Given the description of an element on the screen output the (x, y) to click on. 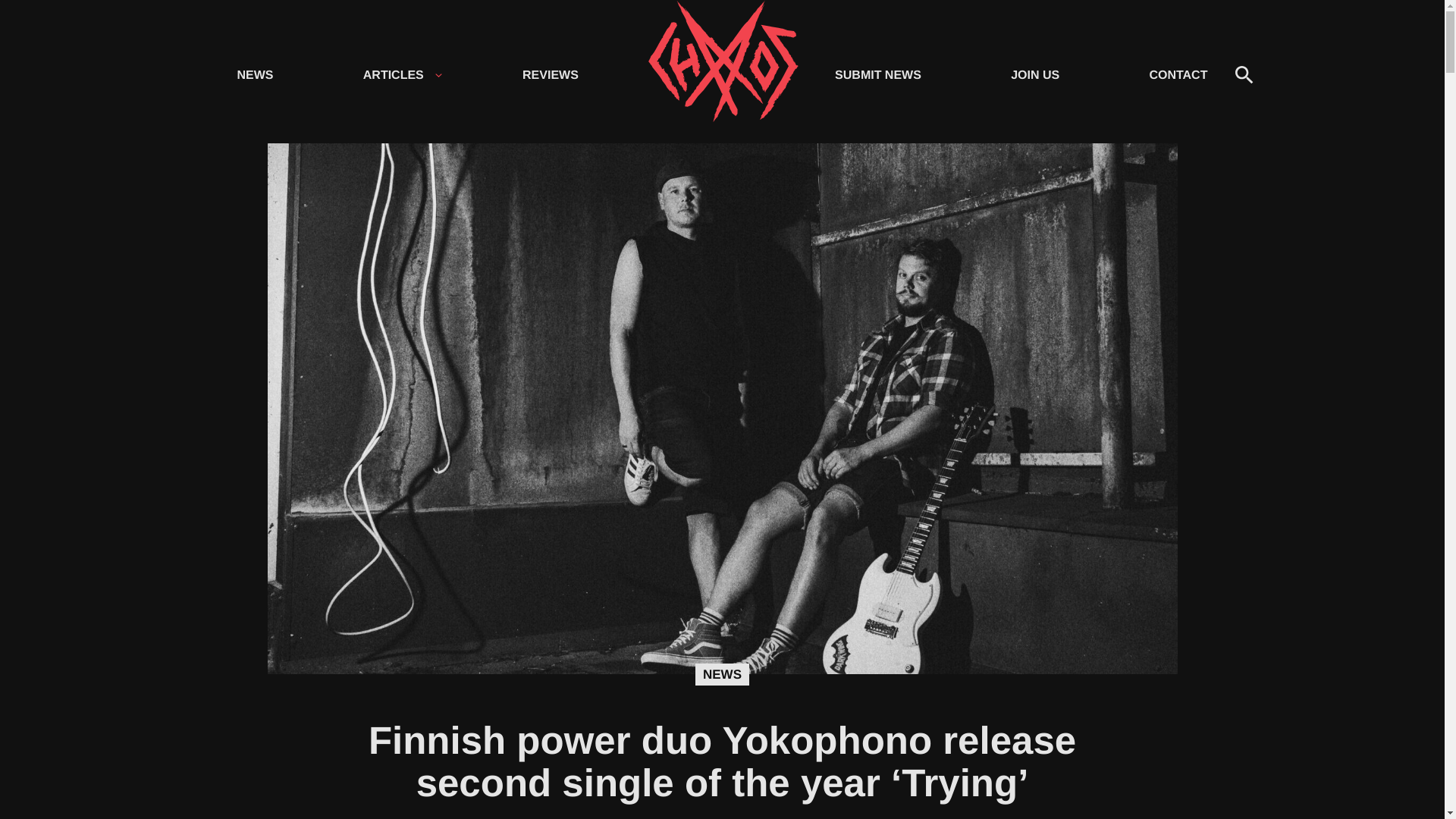
REVIEWS (550, 75)
CONTACT (1178, 75)
NEWS (722, 674)
ARTICLES (391, 75)
SUBMIT NEWS (877, 75)
NEWS (254, 75)
Chaoszine (721, 75)
JOIN US (1034, 75)
